Given the description of an element on the screen output the (x, y) to click on. 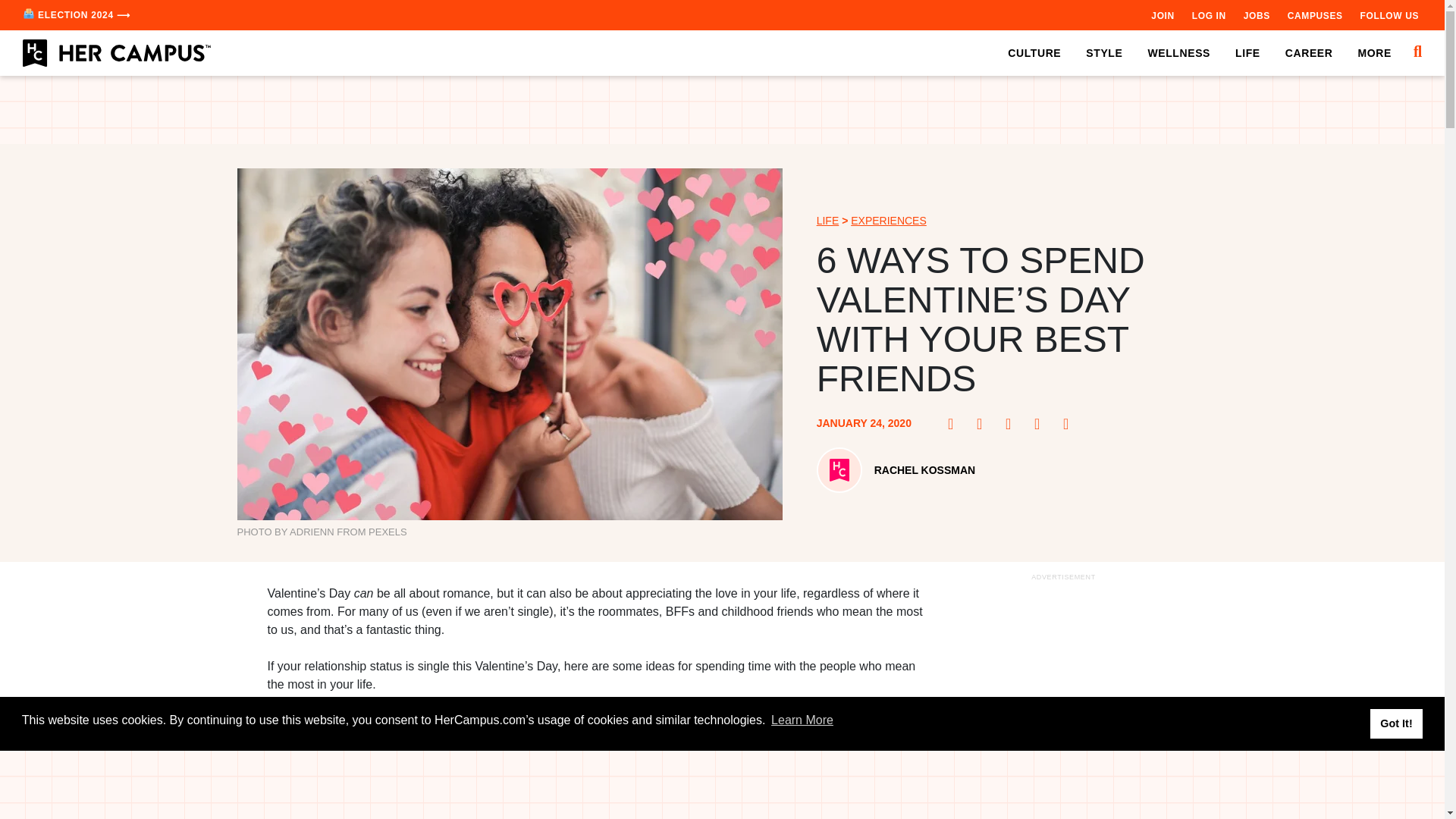
3rd party ad content (1062, 701)
JOBS (1256, 15)
Pinterest (983, 423)
LOG IN (1208, 15)
Twitter (1013, 423)
3rd party ad content (722, 110)
Facebook (954, 423)
CAMPUSES (1314, 15)
3rd party ad content (722, 785)
JOIN (1162, 15)
LinkedIn (1041, 423)
Got It! (1396, 723)
Email (1070, 423)
